Given the description of an element on the screen output the (x, y) to click on. 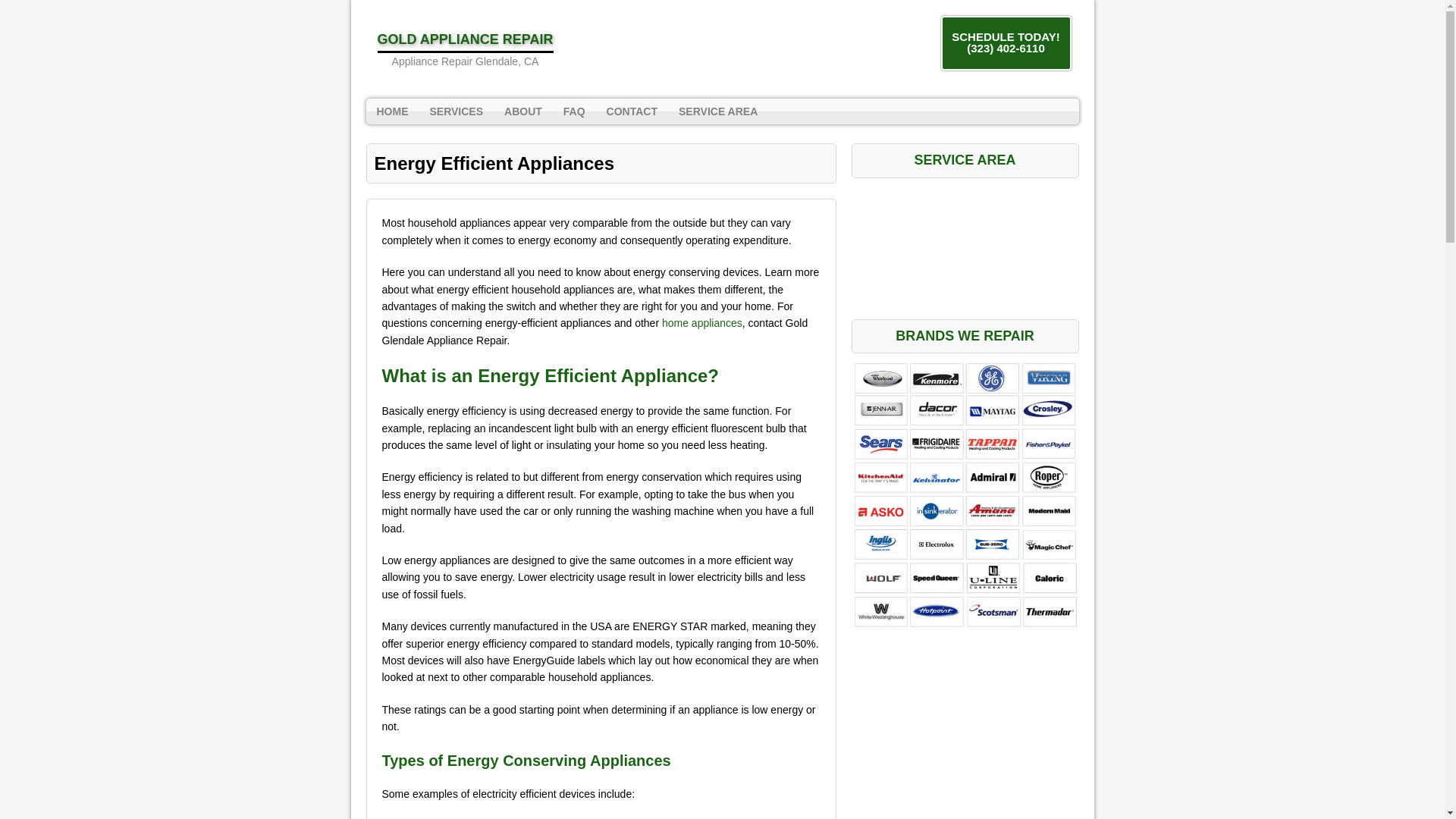
home appliances (702, 322)
FAQ (574, 111)
SERVICES (456, 111)
ABOUT (523, 111)
SERVICE AREA (718, 111)
Gold Appliance Repair (464, 48)
HOME (392, 111)
CONTACT (464, 48)
